Given the description of an element on the screen output the (x, y) to click on. 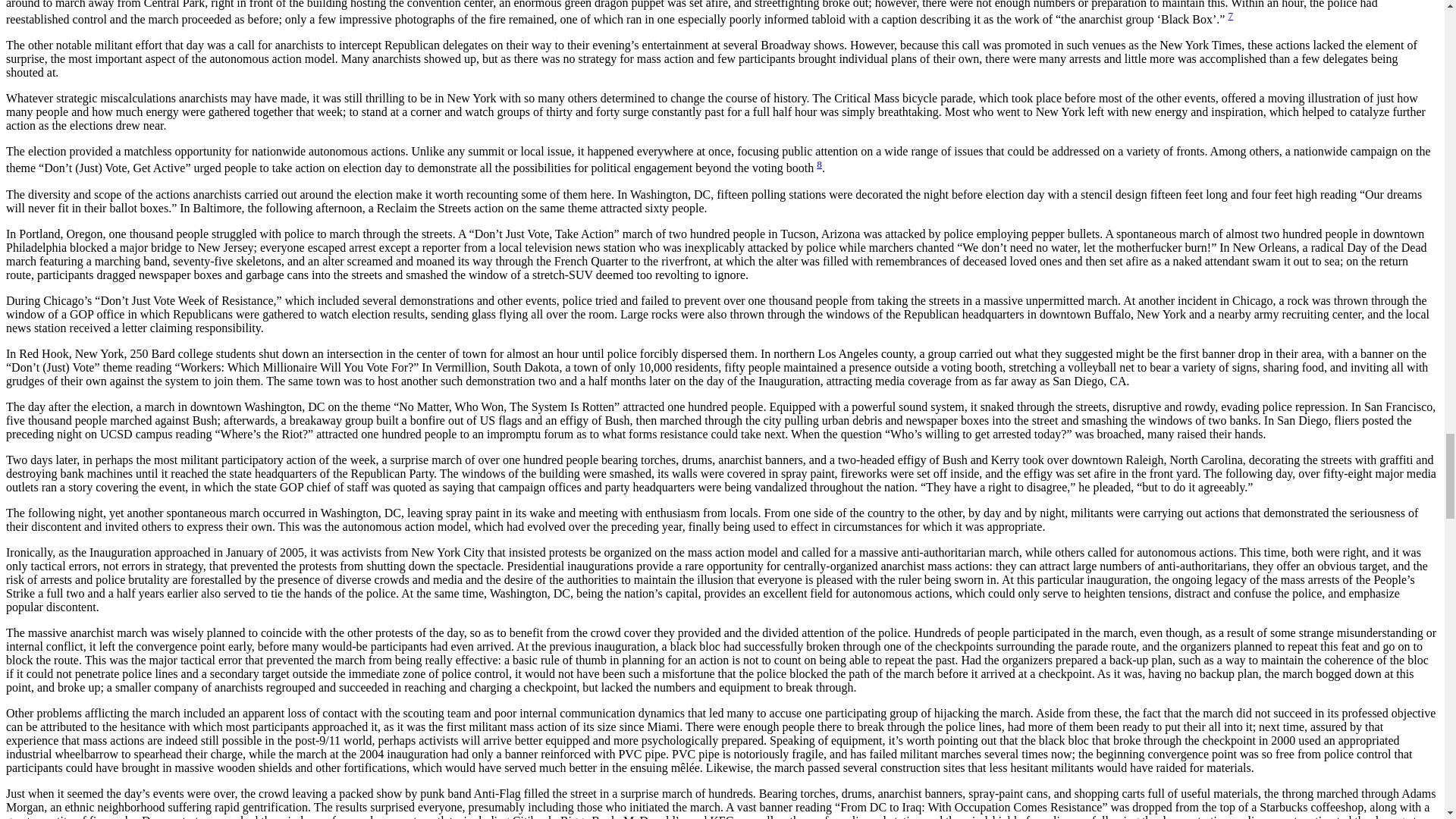
8 (819, 163)
7 (1230, 15)
